Given the description of an element on the screen output the (x, y) to click on. 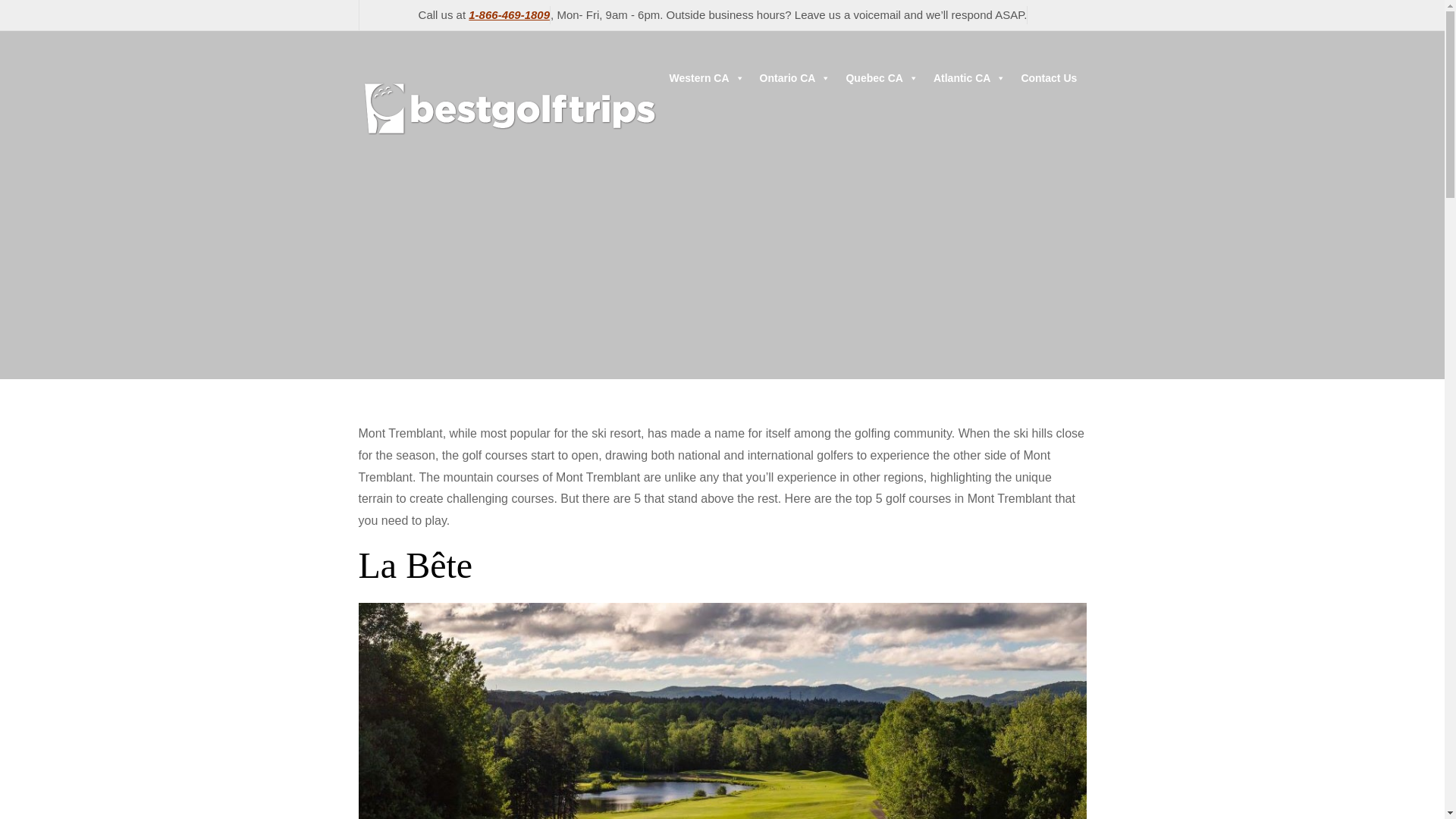
Quebec CA (881, 78)
Western CA (706, 78)
Atlantic CA (969, 78)
Ontario CA (795, 78)
